Given the description of an element on the screen output the (x, y) to click on. 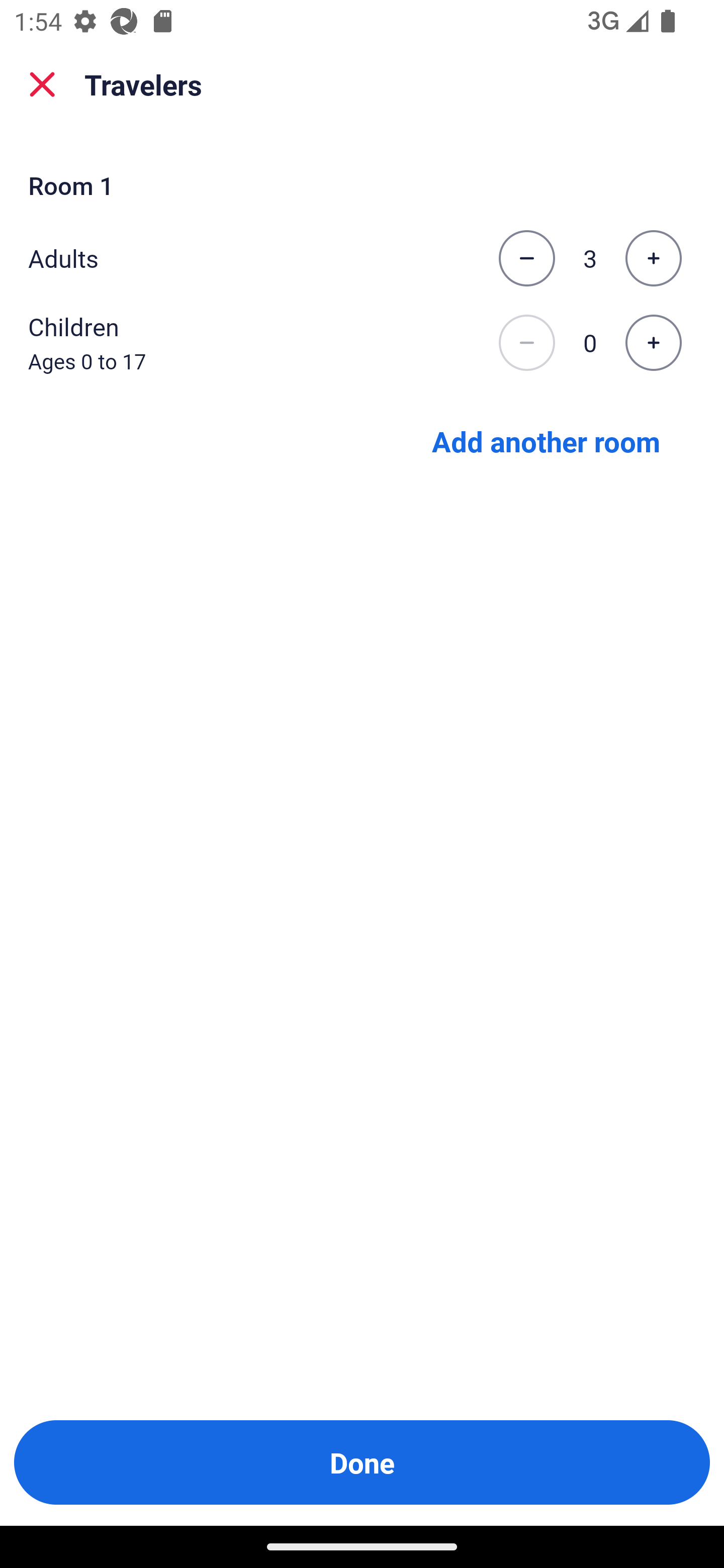
close (42, 84)
Decrease the number of adults (526, 258)
Increase the number of adults (653, 258)
Decrease the number of children (526, 343)
Increase the number of children (653, 343)
Add another room (545, 440)
Done (361, 1462)
